Given the description of an element on the screen output the (x, y) to click on. 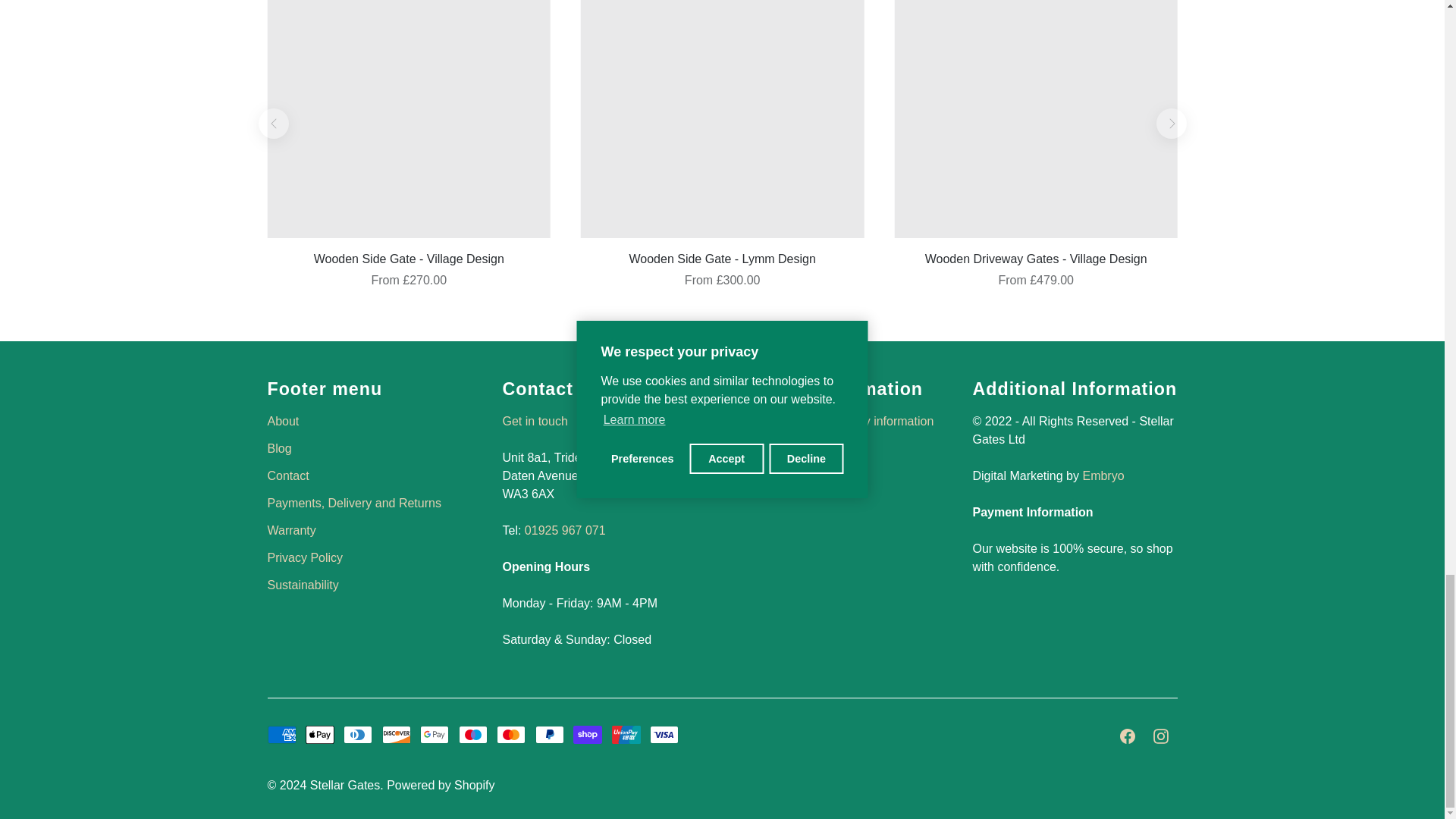
Delivery, Payments and Returns (834, 429)
American Express (280, 734)
tel: 01925 967 071 (564, 530)
Contact (534, 420)
